Given the description of an element on the screen output the (x, y) to click on. 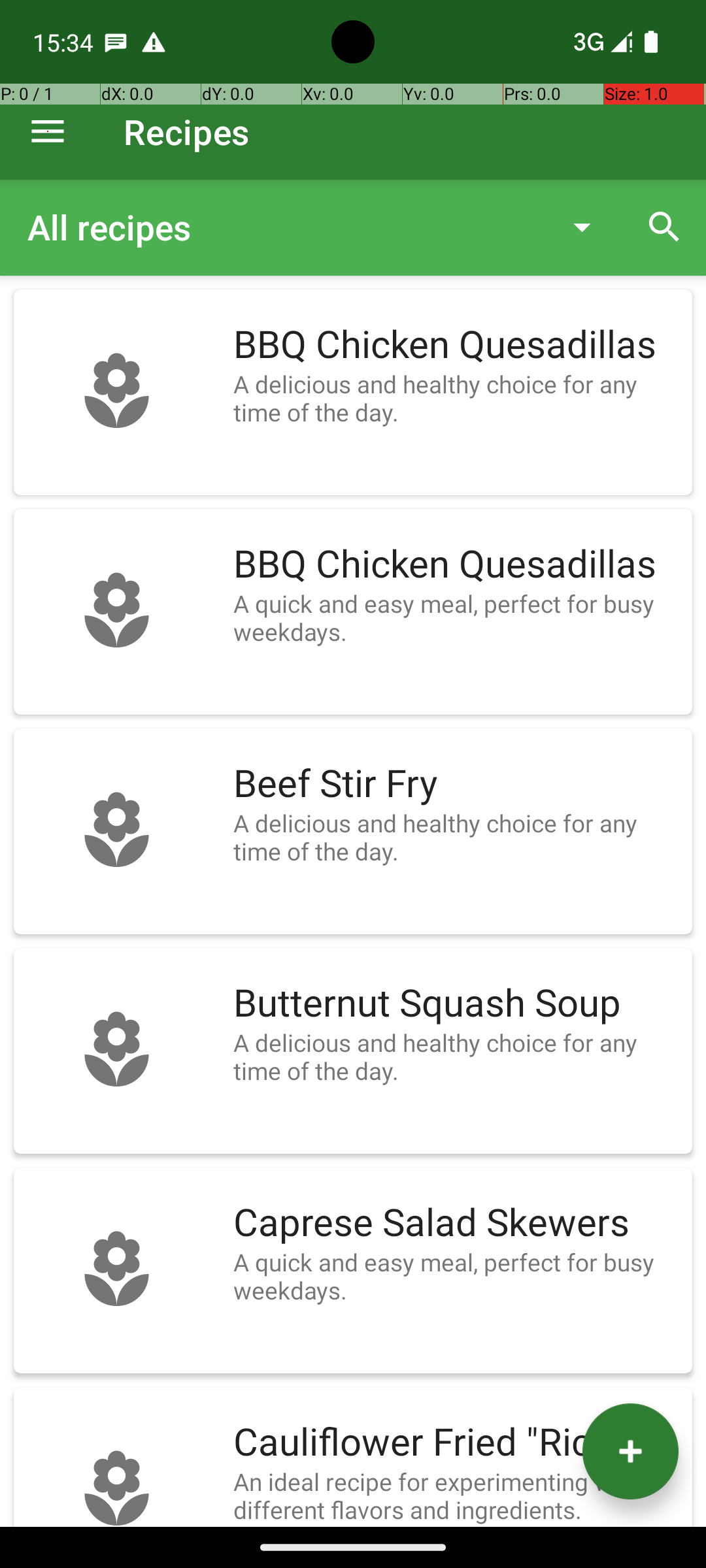
All recipes Element type: android.widget.TextView (283, 226)
BBQ Chicken Quesadillas Element type: android.widget.TextView (455, 344)
Beef Stir Fry Element type: android.widget.TextView (455, 783)
Butternut Squash Soup Element type: android.widget.TextView (455, 1003)
Caprese Salad Skewers Element type: android.widget.TextView (455, 1222)
Cauliflower Fried "Rice" Element type: android.widget.TextView (455, 1442)
